Given the description of an element on the screen output the (x, y) to click on. 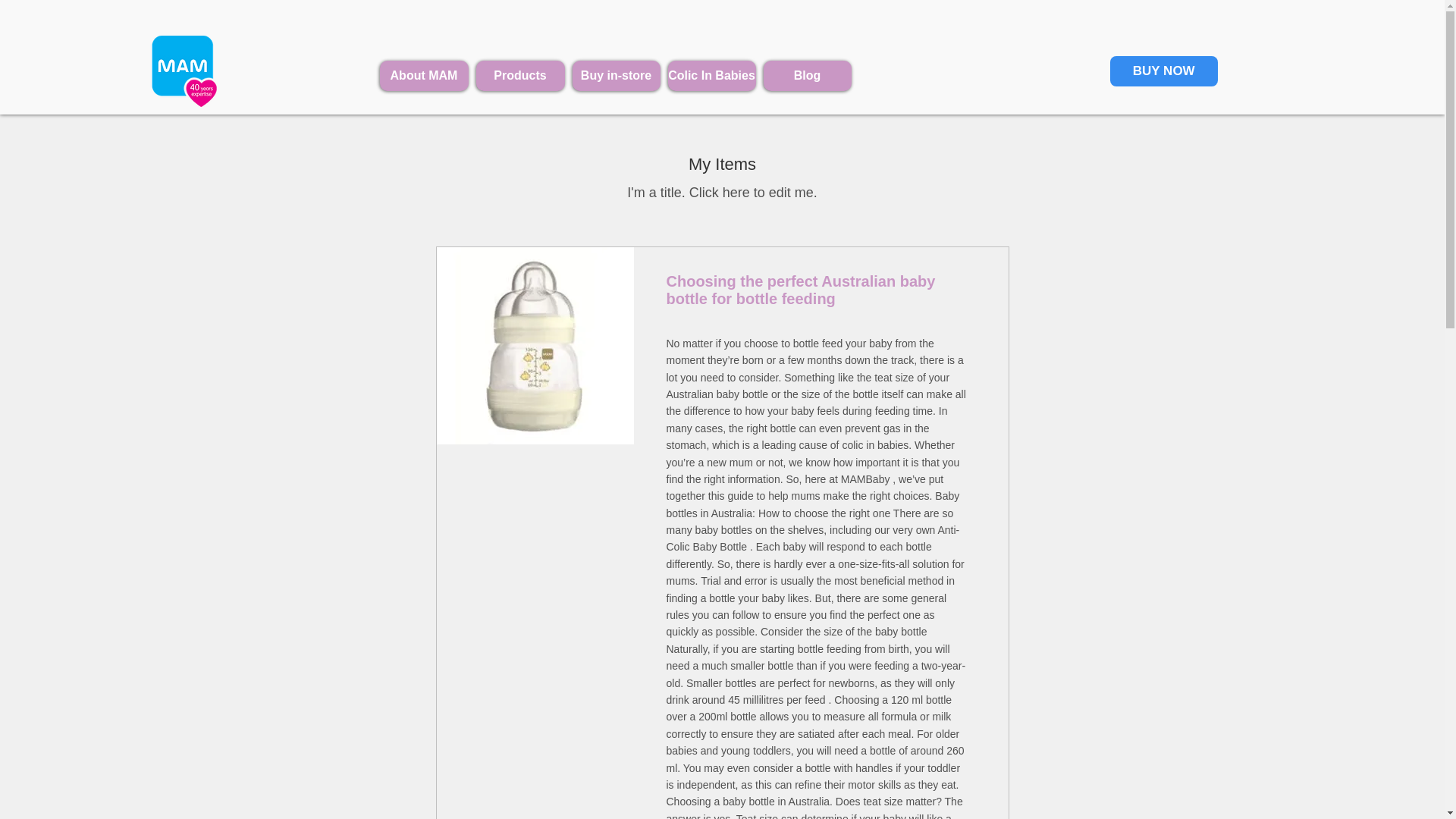
Buy in-store (615, 75)
Products (520, 75)
Blog (806, 75)
Colic In Babies (710, 75)
BUY NOW (1163, 71)
About MAM (422, 75)
